Given the description of an element on the screen output the (x, y) to click on. 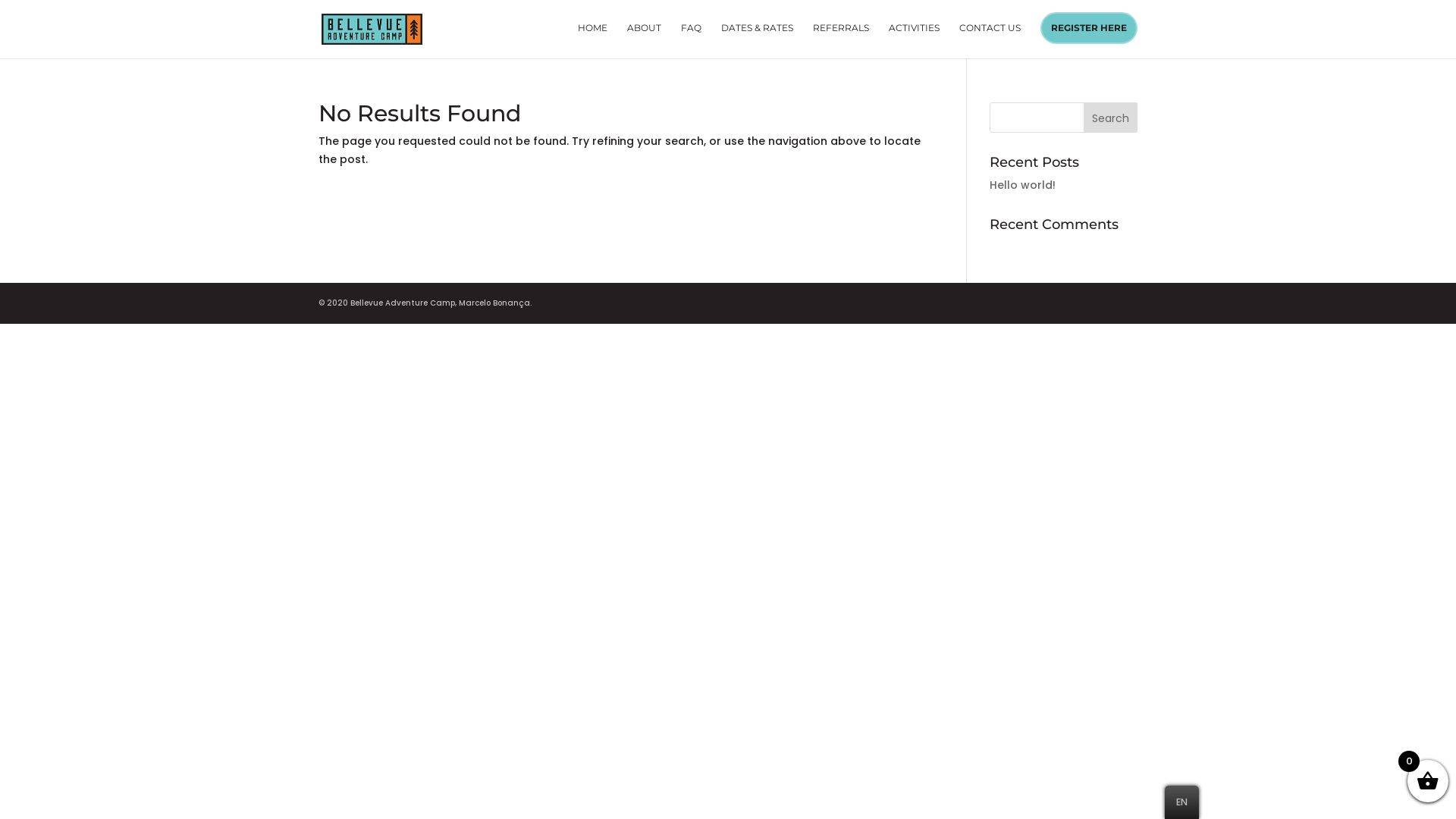
FAQ Element type: text (690, 40)
HOME Element type: text (592, 40)
Hello world! Element type: text (1022, 184)
ACTIVITIES Element type: text (913, 40)
REFERRALS Element type: text (840, 40)
REGISTER HERE Element type: text (1088, 27)
CONTACT US Element type: text (989, 40)
Search Element type: text (1110, 117)
DATES & RATES Element type: text (757, 40)
ABOUT Element type: text (644, 40)
